Given the description of an element on the screen output the (x, y) to click on. 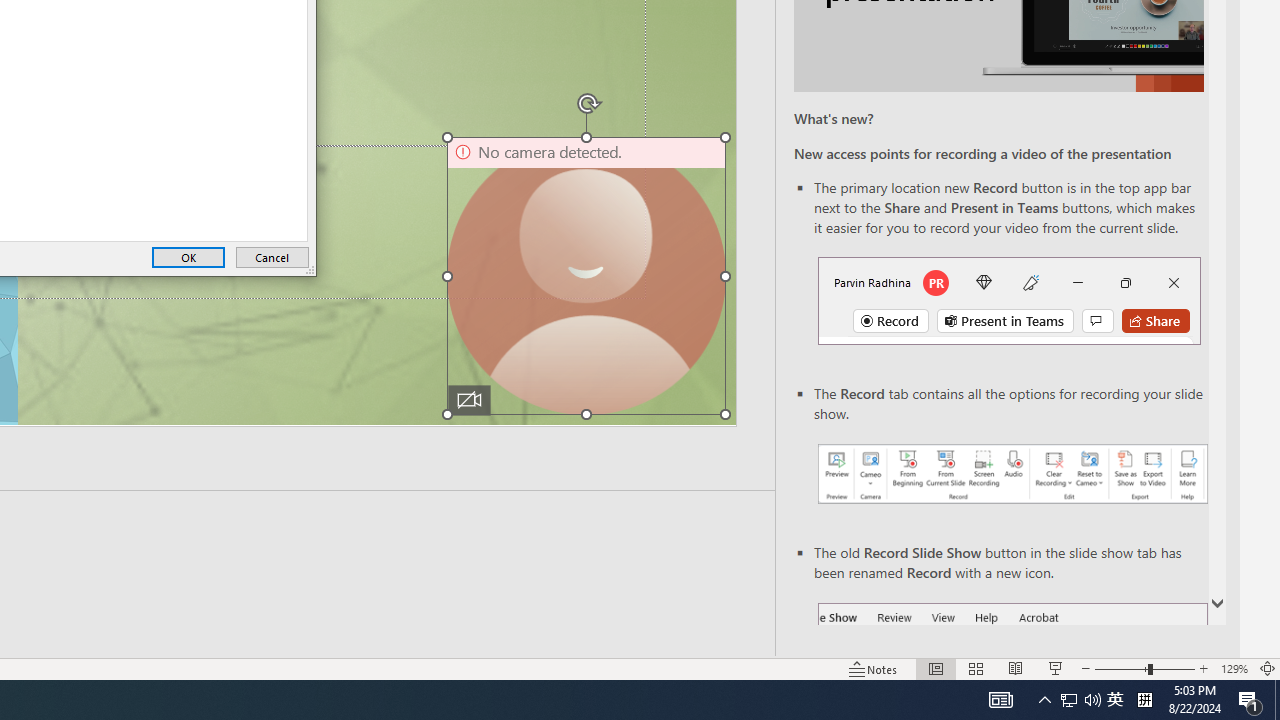
Record button in top bar (1008, 300)
OK (188, 257)
Record your presentations screenshot one (1012, 473)
Camera 9, No camera detected. (586, 275)
